Given the description of an element on the screen output the (x, y) to click on. 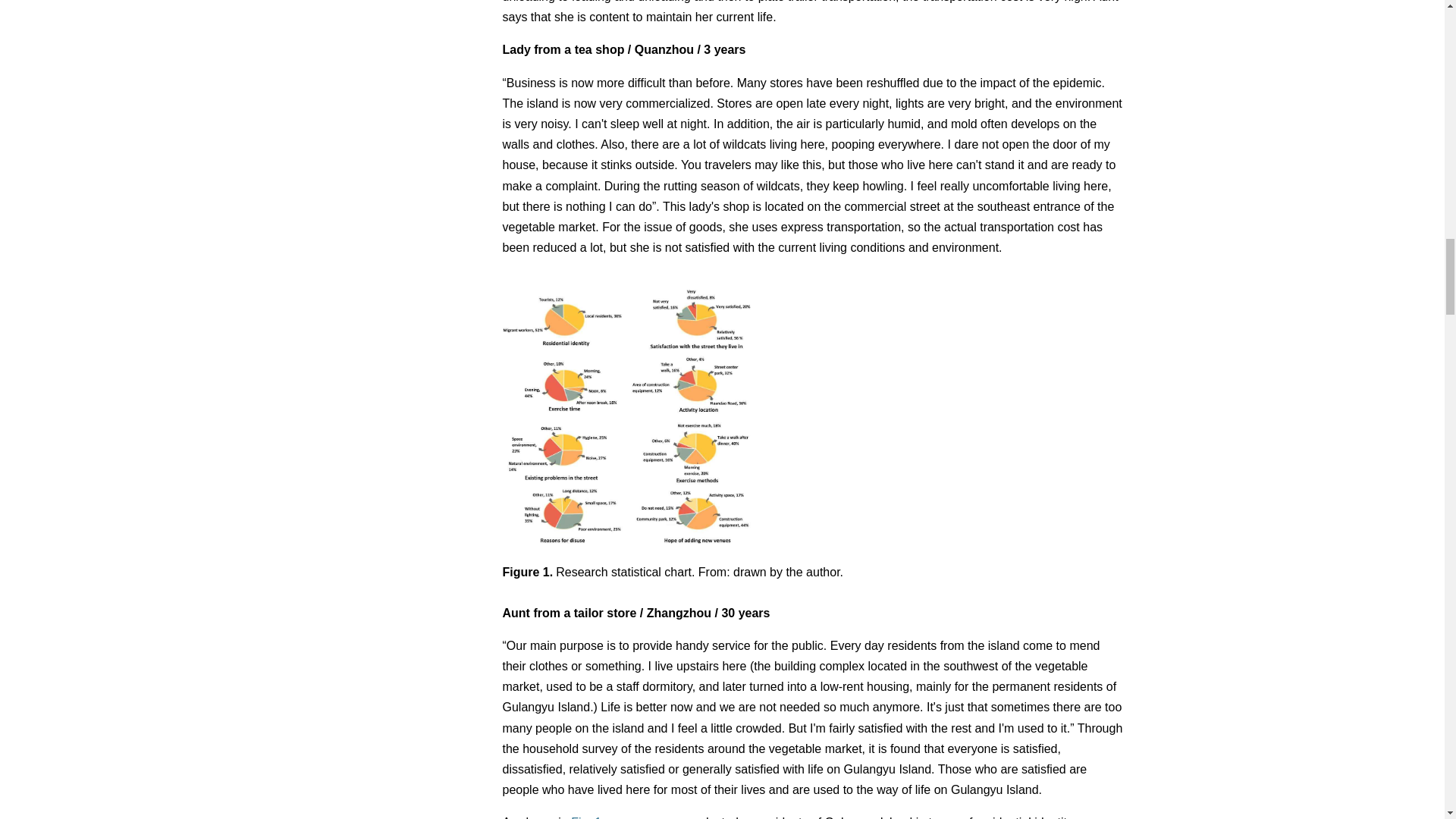
Fig. 1 (585, 817)
